Given the description of an element on the screen output the (x, y) to click on. 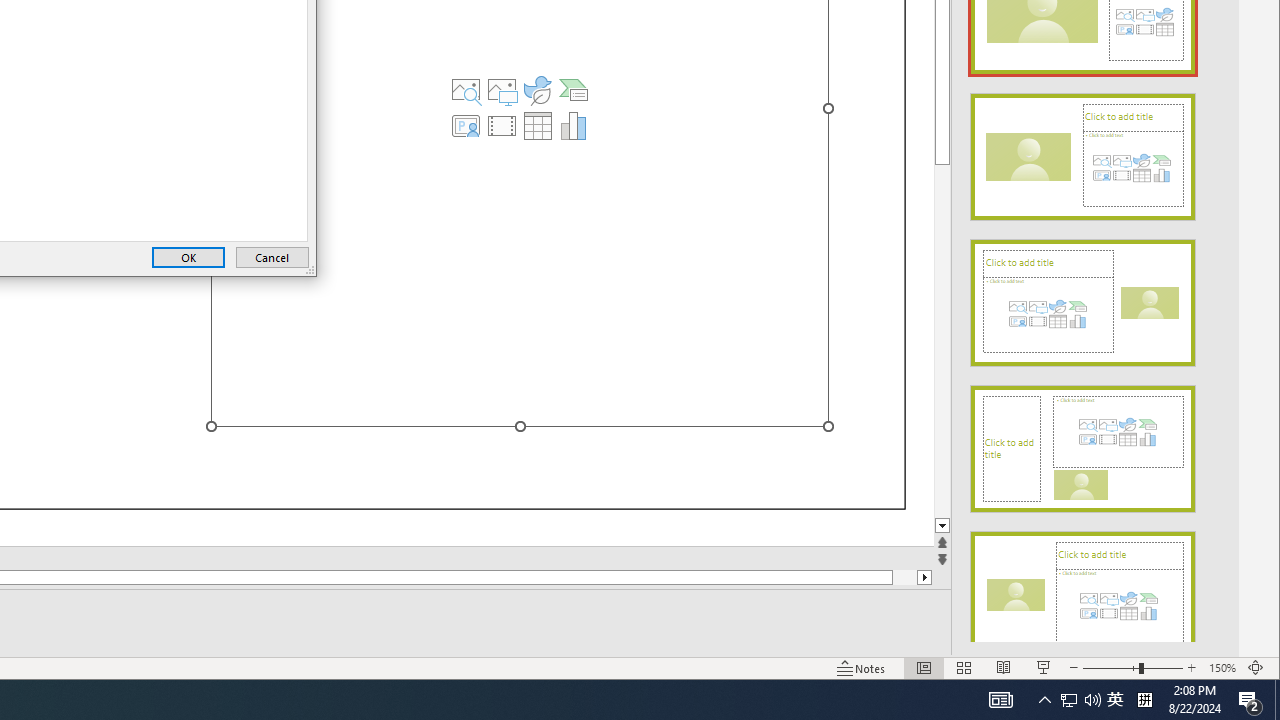
Insert Chart (574, 125)
